Given the description of an element on the screen output the (x, y) to click on. 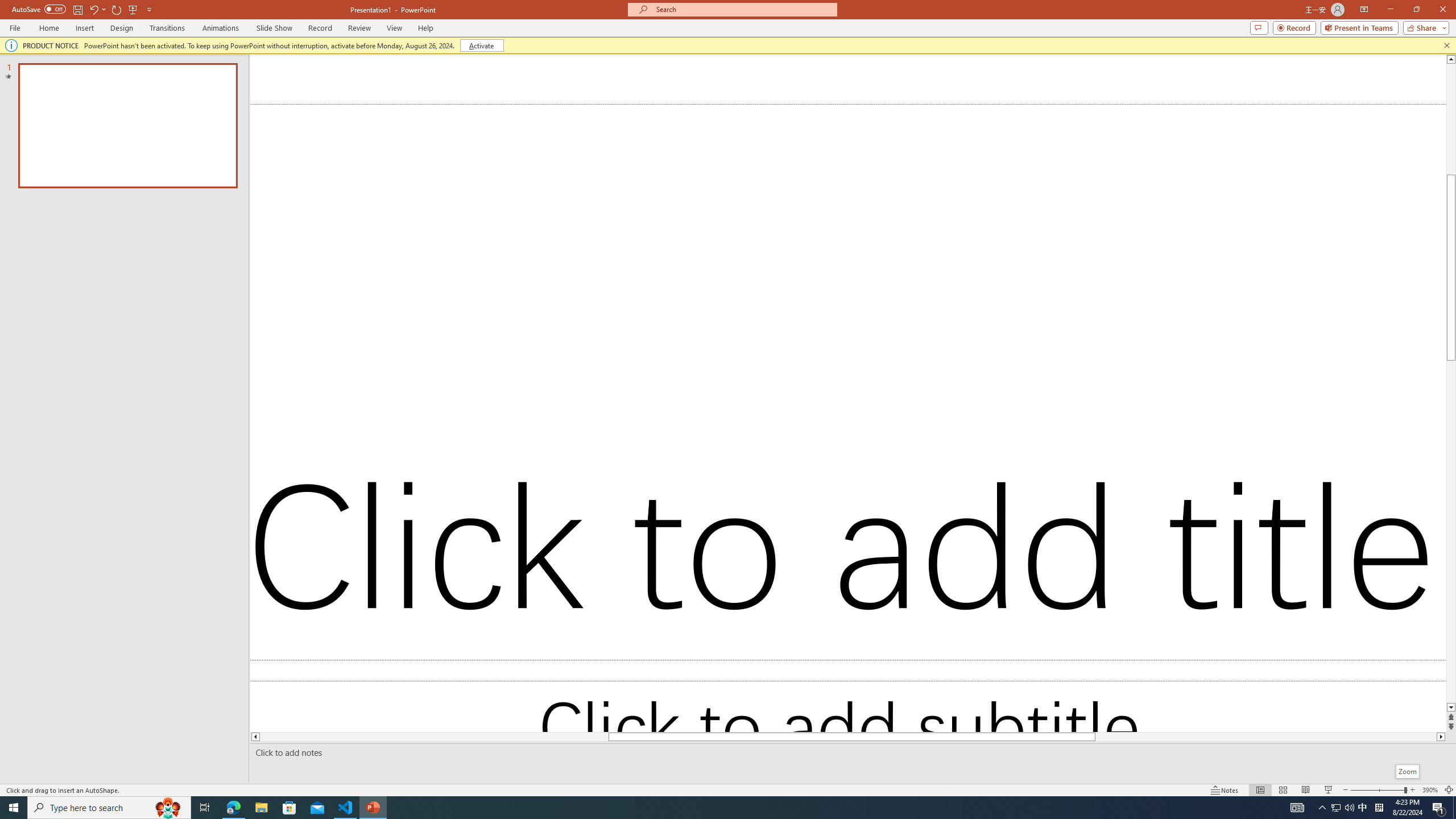
Zoom 390% (1430, 790)
Microsoft search (742, 9)
